Given the description of an element on the screen output the (x, y) to click on. 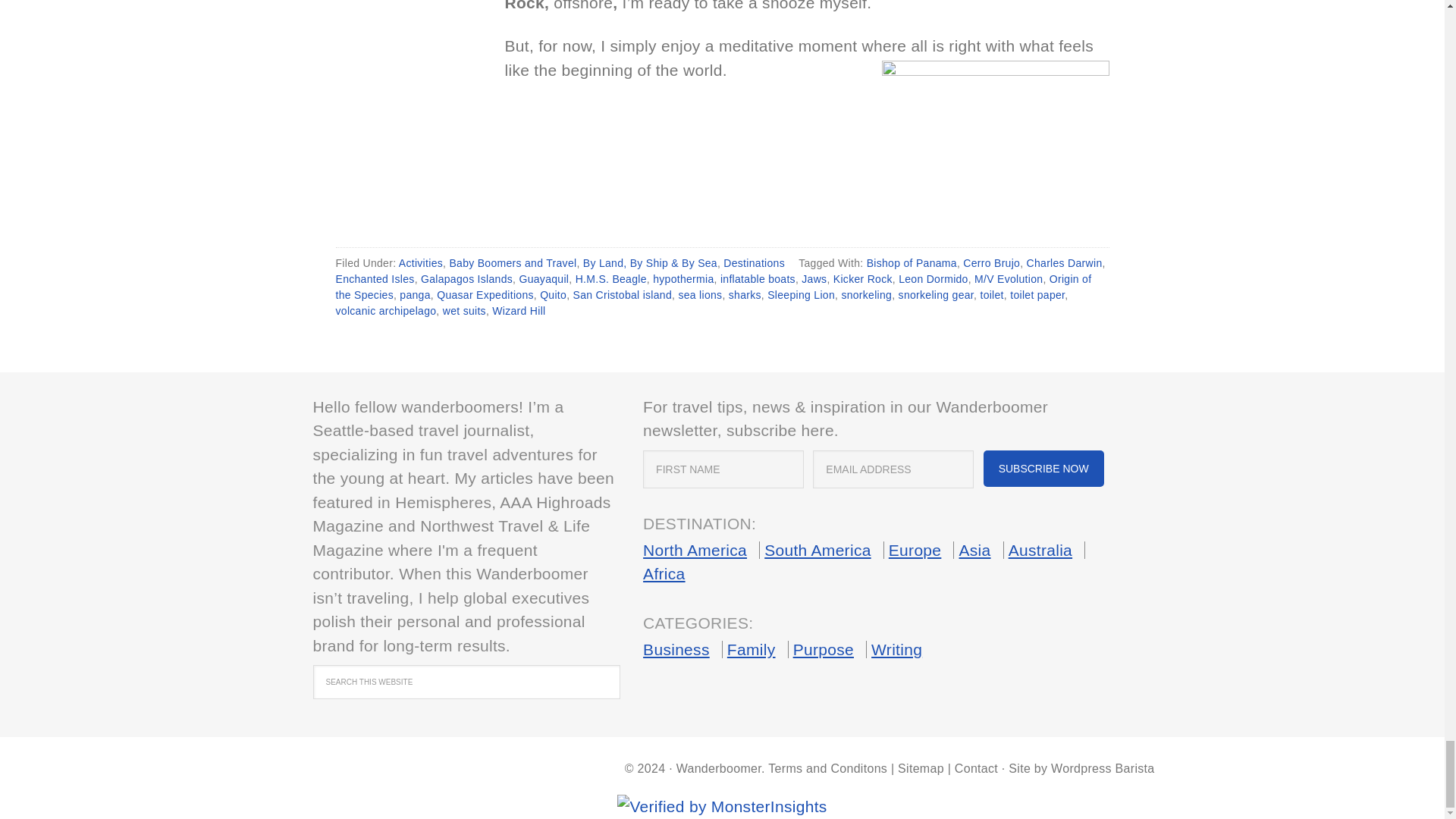
Wordpress Barista (1102, 768)
SUBSCRIBE NOW (1043, 468)
